Given the description of an element on the screen output the (x, y) to click on. 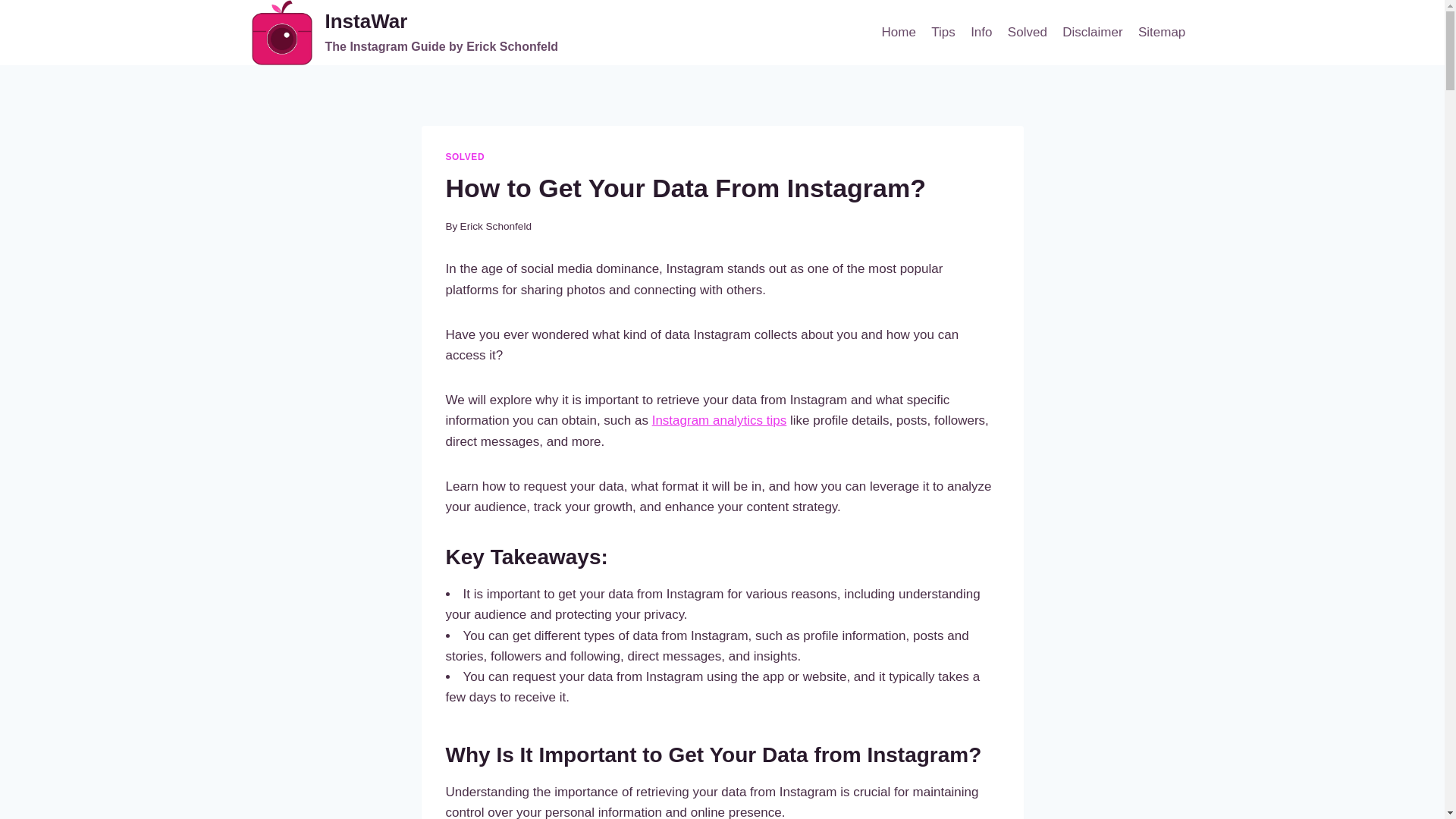
Erick Schonfeld (495, 225)
Tips (405, 32)
Info (942, 32)
Disclaimer (981, 32)
Instagram analytics tips (1092, 32)
Sitemap (719, 420)
Solved (1162, 32)
SOLVED (1027, 32)
Home (464, 156)
